Given the description of an element on the screen output the (x, y) to click on. 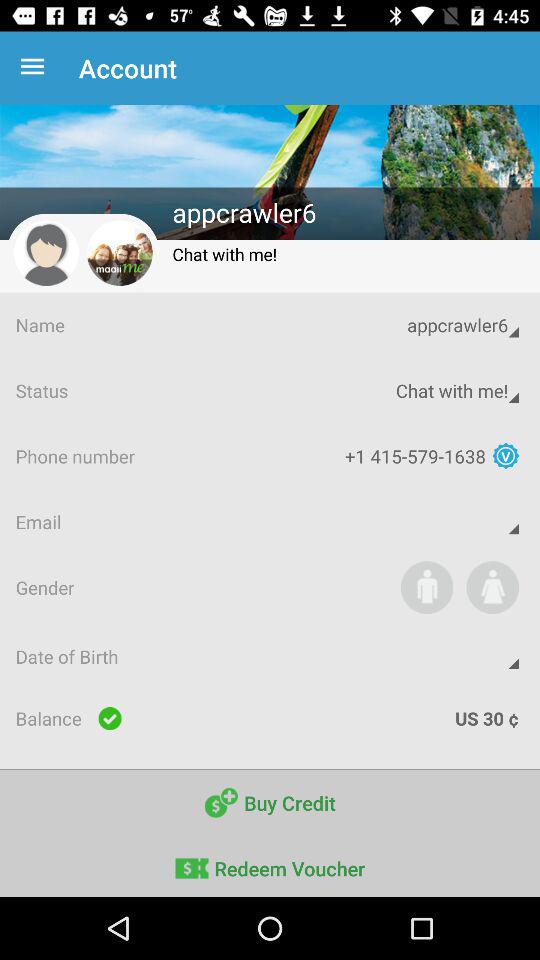
turn off the app next to the gender app (426, 587)
